Given the description of an element on the screen output the (x, y) to click on. 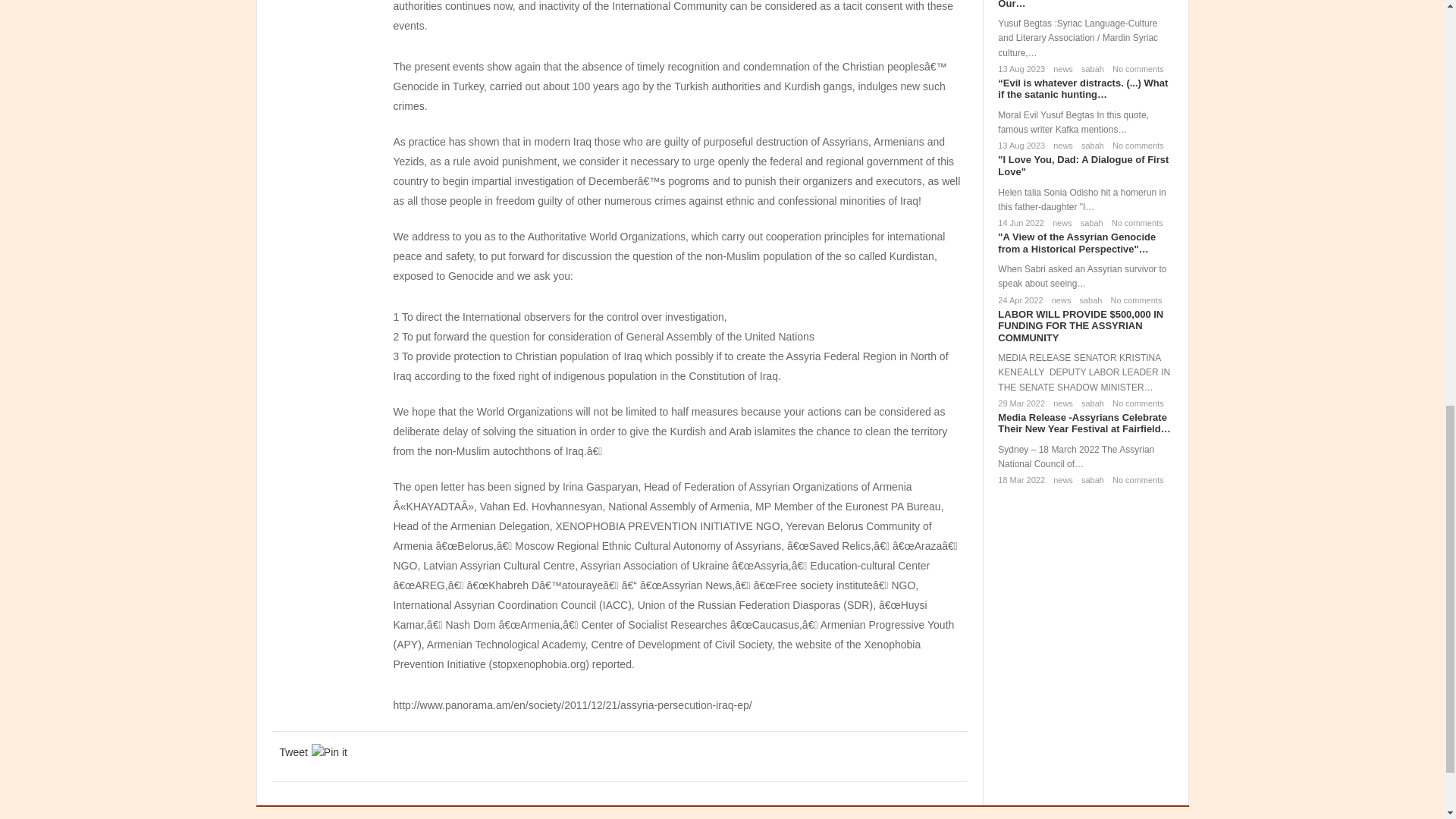
Pin it (329, 751)
Tweet (293, 751)
